Given the description of an element on the screen output the (x, y) to click on. 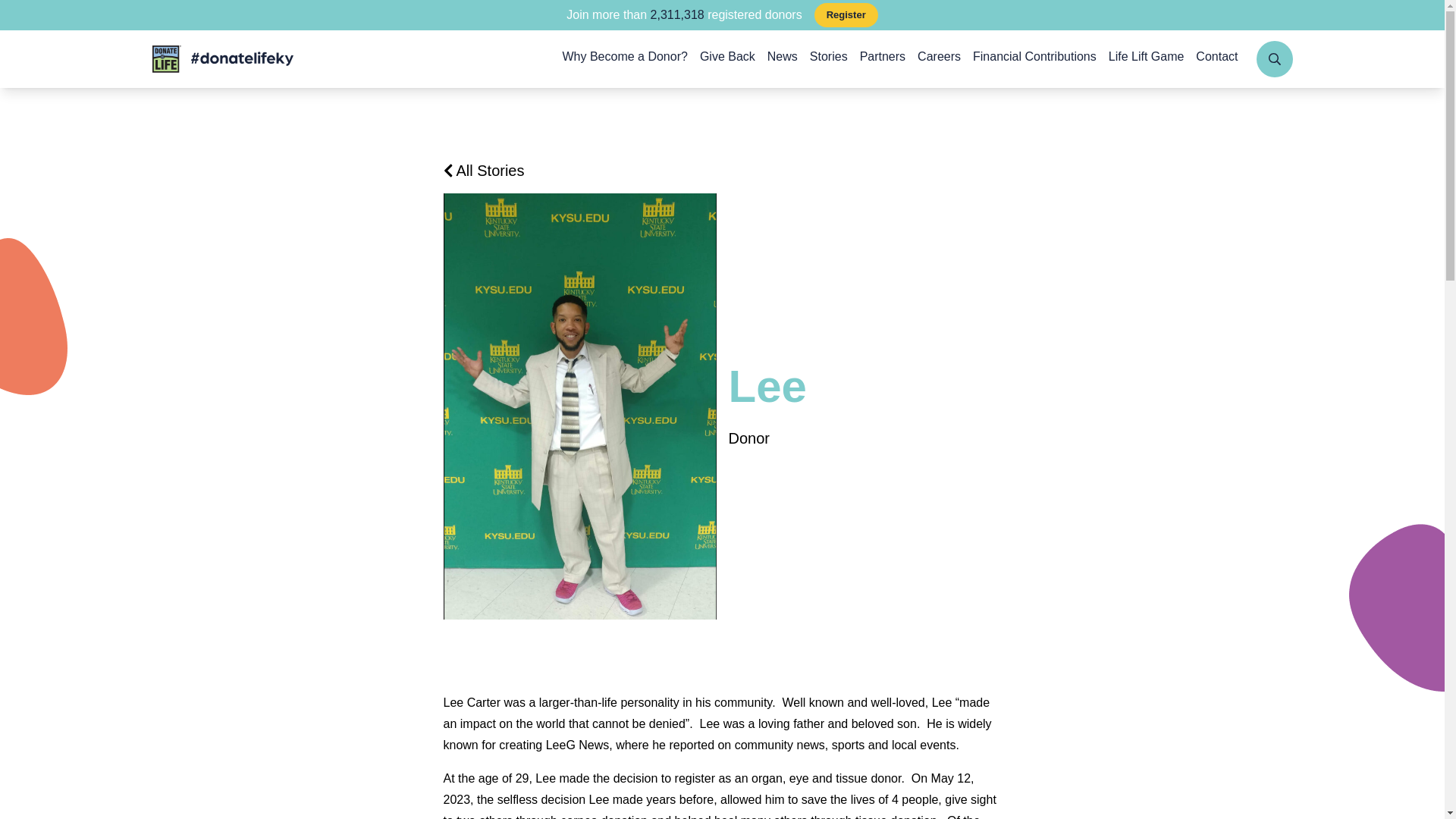
News (782, 58)
Contact (1216, 58)
Donate Life KY (221, 58)
Register (845, 15)
Financial Contributions (1034, 58)
Contact (1216, 58)
Life Lift Game (1146, 58)
Financial Contributions (1034, 58)
Careers (938, 58)
Why Become a Donor? (624, 58)
Careers (938, 58)
Life Lift Game (1146, 58)
News (782, 58)
Give Back (727, 58)
Partners (882, 58)
